Given the description of an element on the screen output the (x, y) to click on. 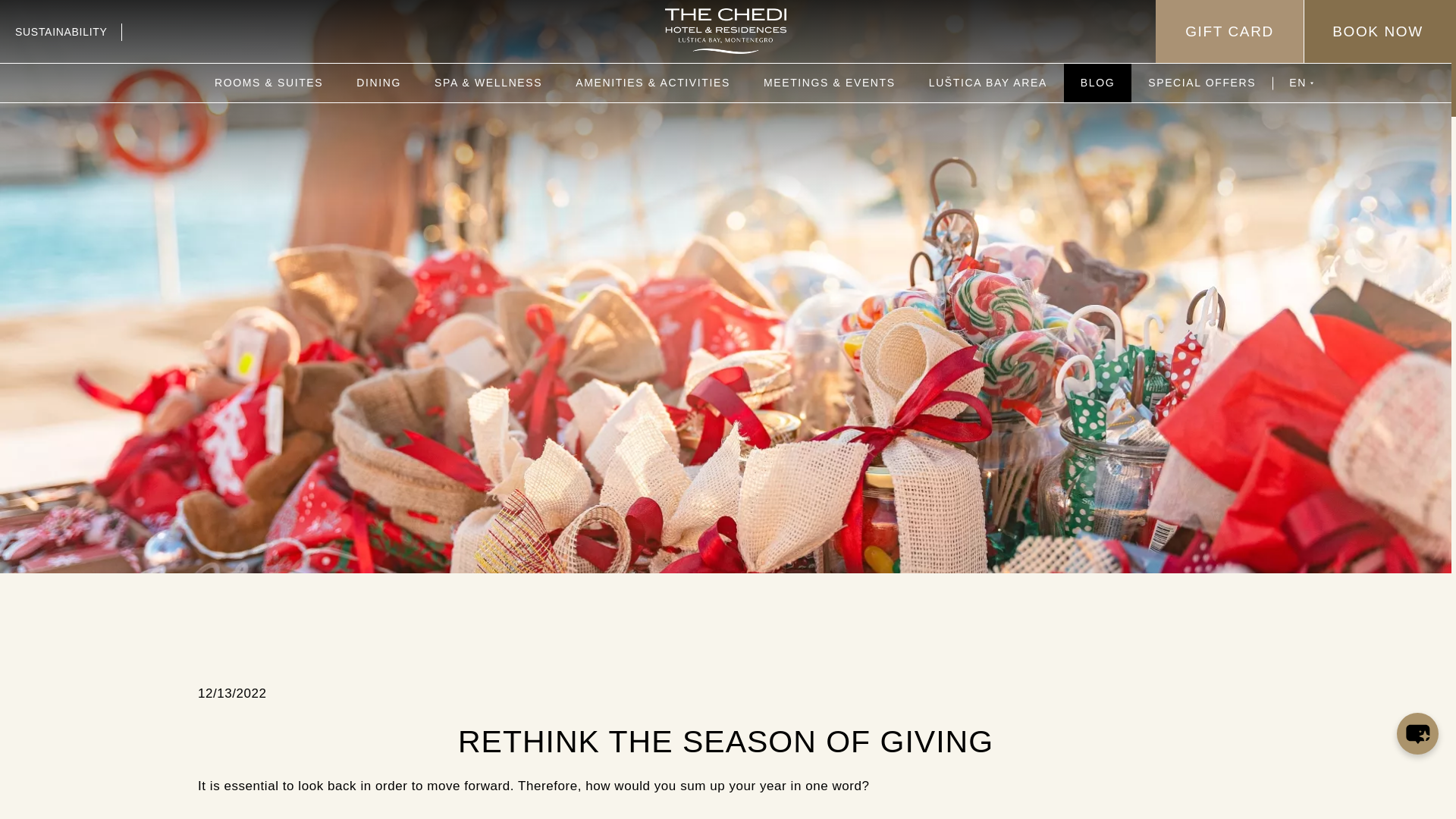
GIFT CARD (1229, 31)
DINING (378, 82)
Website Logo (725, 31)
SUSTAINABILITY (69, 30)
